Given the description of an element on the screen output the (x, y) to click on. 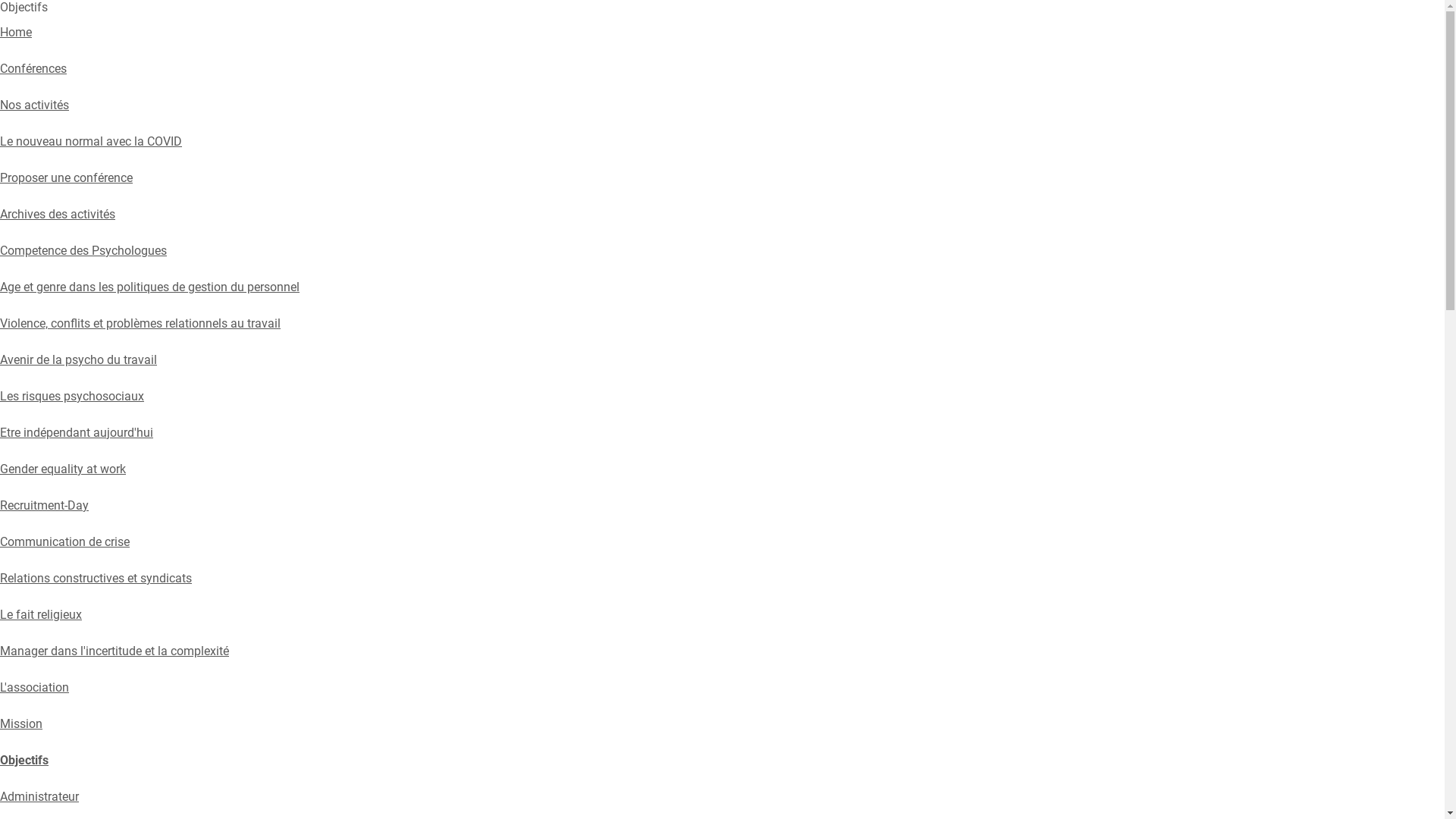
Age et genre dans les politiques de gestion du personnel Element type: text (149, 286)
Les risques psychosociaux Element type: text (72, 396)
Objectifs Element type: text (24, 760)
Le fait religieux Element type: text (40, 614)
Avenir de la psycho du travail Element type: text (78, 359)
Home Element type: text (15, 32)
Relations constructives et syndicats Element type: text (95, 578)
Administrateur Element type: text (39, 796)
Mission Element type: text (21, 723)
Gender equality at work Element type: text (62, 468)
Recruitment-Day Element type: text (44, 505)
Competence des Psychologues Element type: text (83, 250)
Le nouveau normal avec la COVID Element type: text (91, 141)
L'association Element type: text (34, 687)
Communication de crise Element type: text (64, 541)
